Given the description of an element on the screen output the (x, y) to click on. 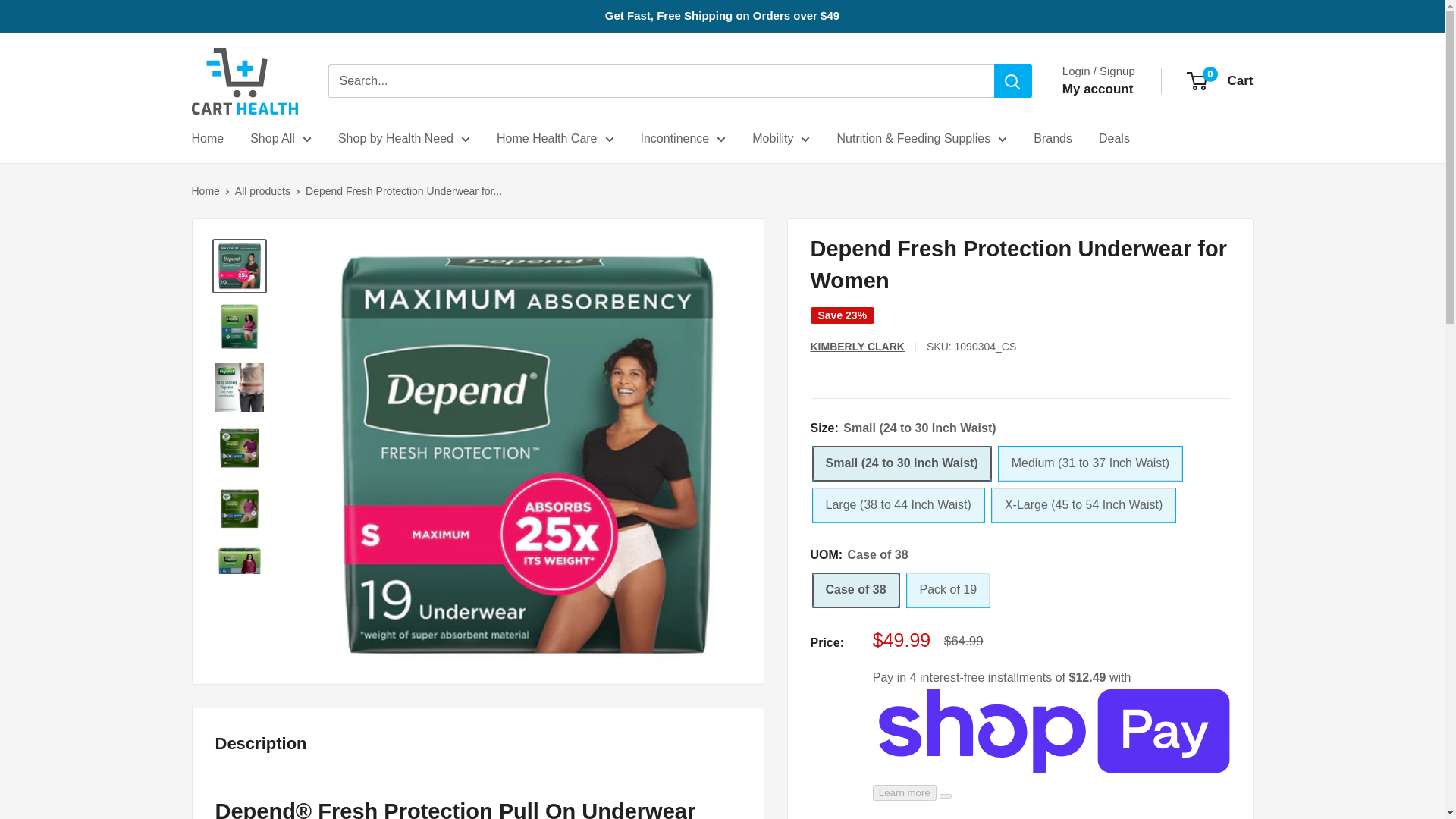
My account (1098, 88)
Cart Health (243, 80)
Cart Health Logo (243, 80)
Shop All (280, 138)
Home (207, 138)
